Given the description of an element on the screen output the (x, y) to click on. 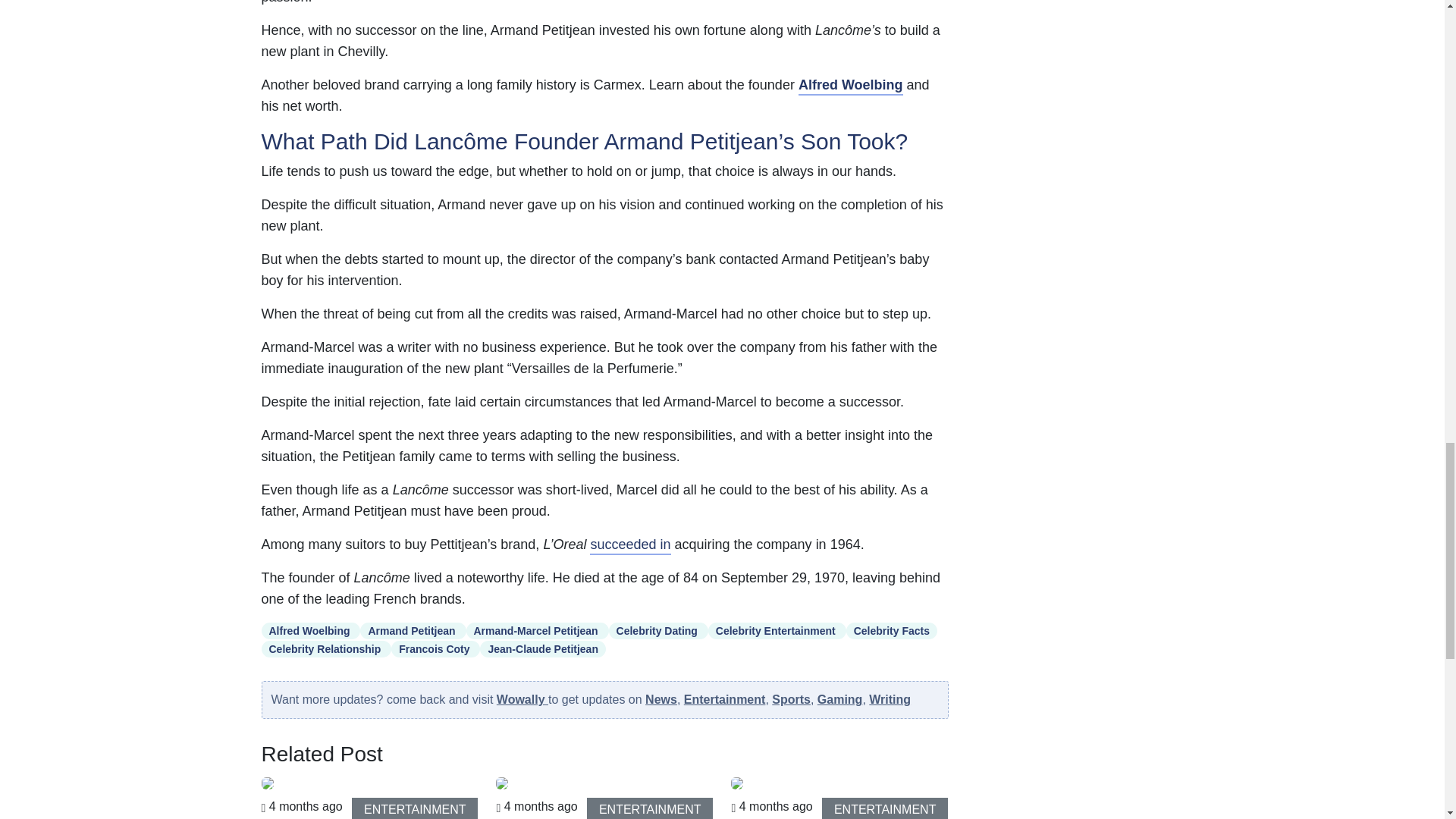
Francois Coty (435, 648)
succeeded in (629, 546)
Armand-Marcel Petitjean (536, 630)
Jean-Claude Petitjean (542, 648)
Entertainment (724, 698)
News (661, 698)
Celebrity Relationship (325, 648)
Celebrity Dating (657, 630)
Celebrity Entertainment (776, 630)
Armand Petitjean (412, 630)
